Given the description of an element on the screen output the (x, y) to click on. 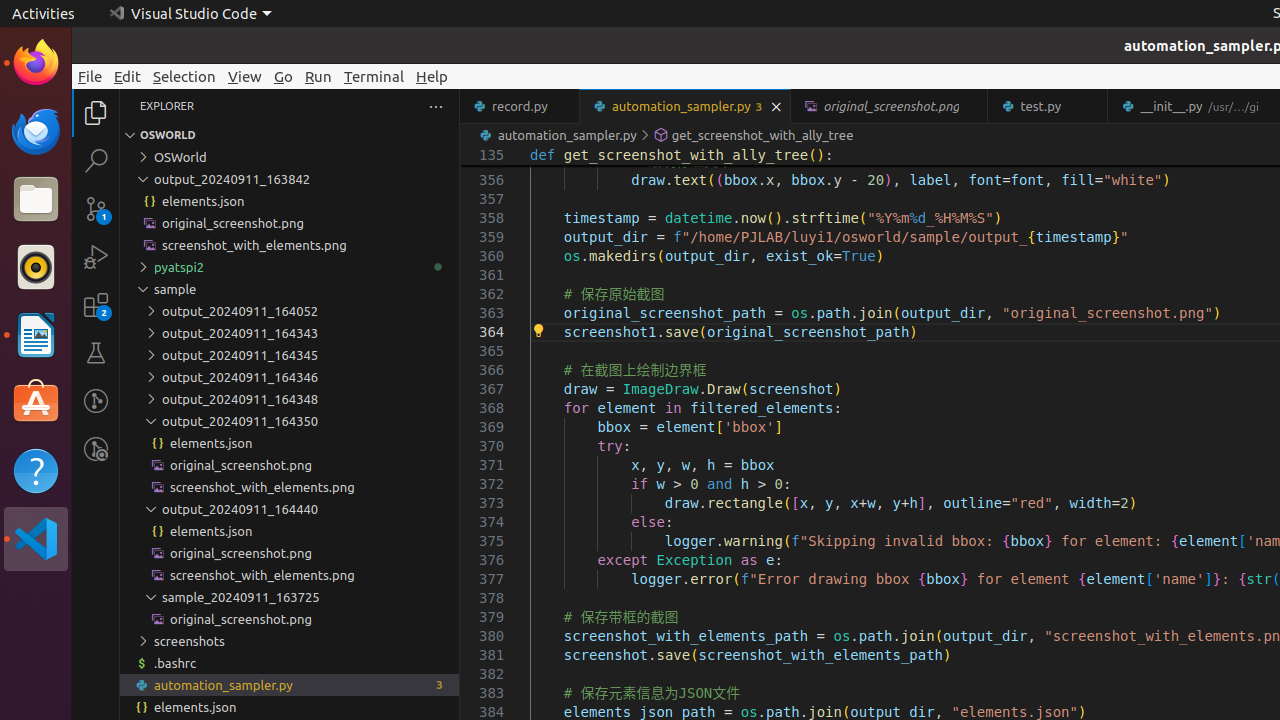
output_20240911_163842 Element type: tree-item (289, 179)
sample_20240911_163725 Element type: tree-item (289, 597)
sample Element type: tree-item (289, 289)
Run Element type: push-button (318, 76)
Testing Element type: page-tab (96, 353)
